Given the description of an element on the screen output the (x, y) to click on. 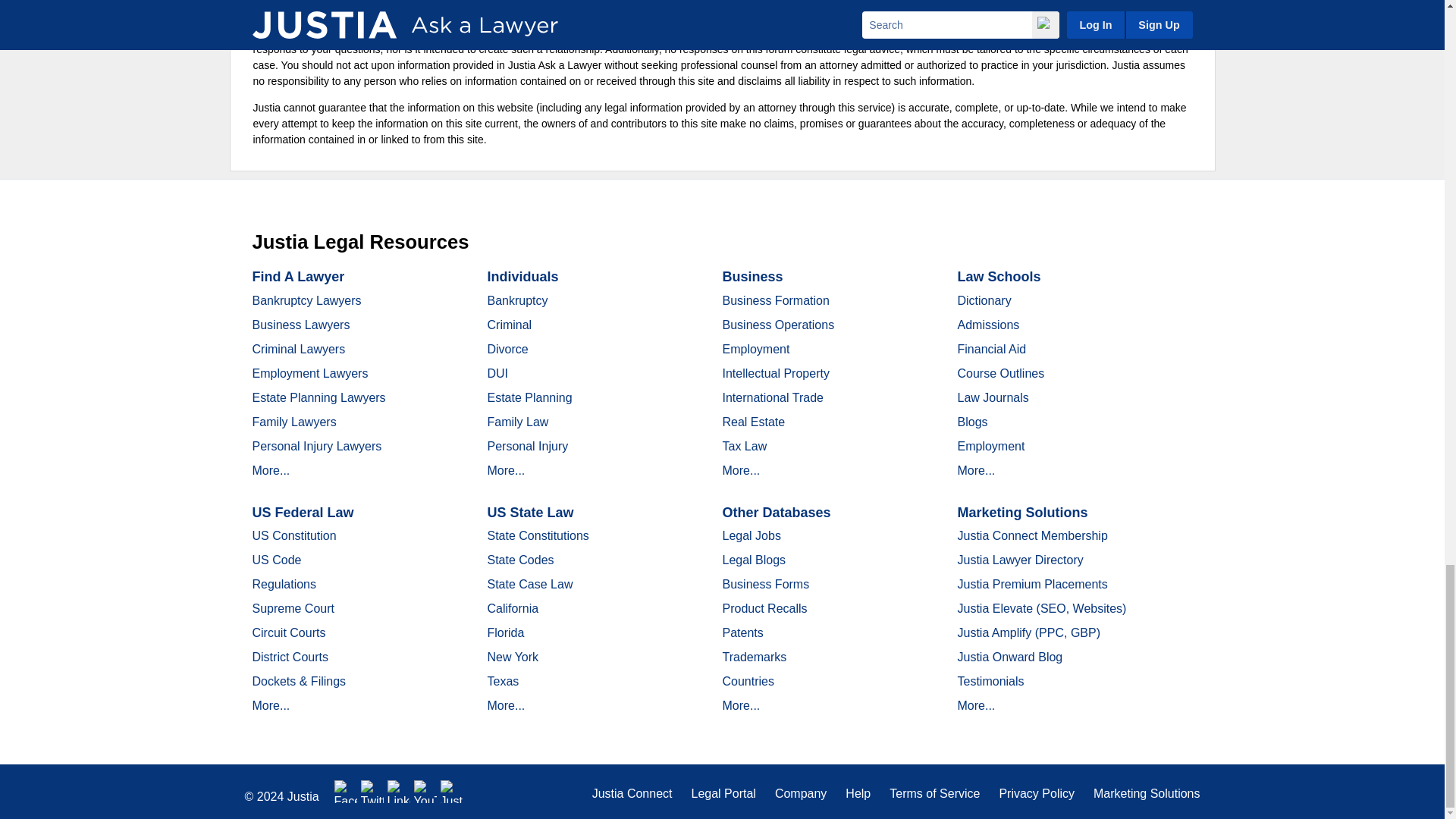
Facebook (345, 791)
Justia Lawyer Directory (452, 791)
Twitter (372, 791)
YouTube (424, 791)
LinkedIn (398, 791)
